Given the description of an element on the screen output the (x, y) to click on. 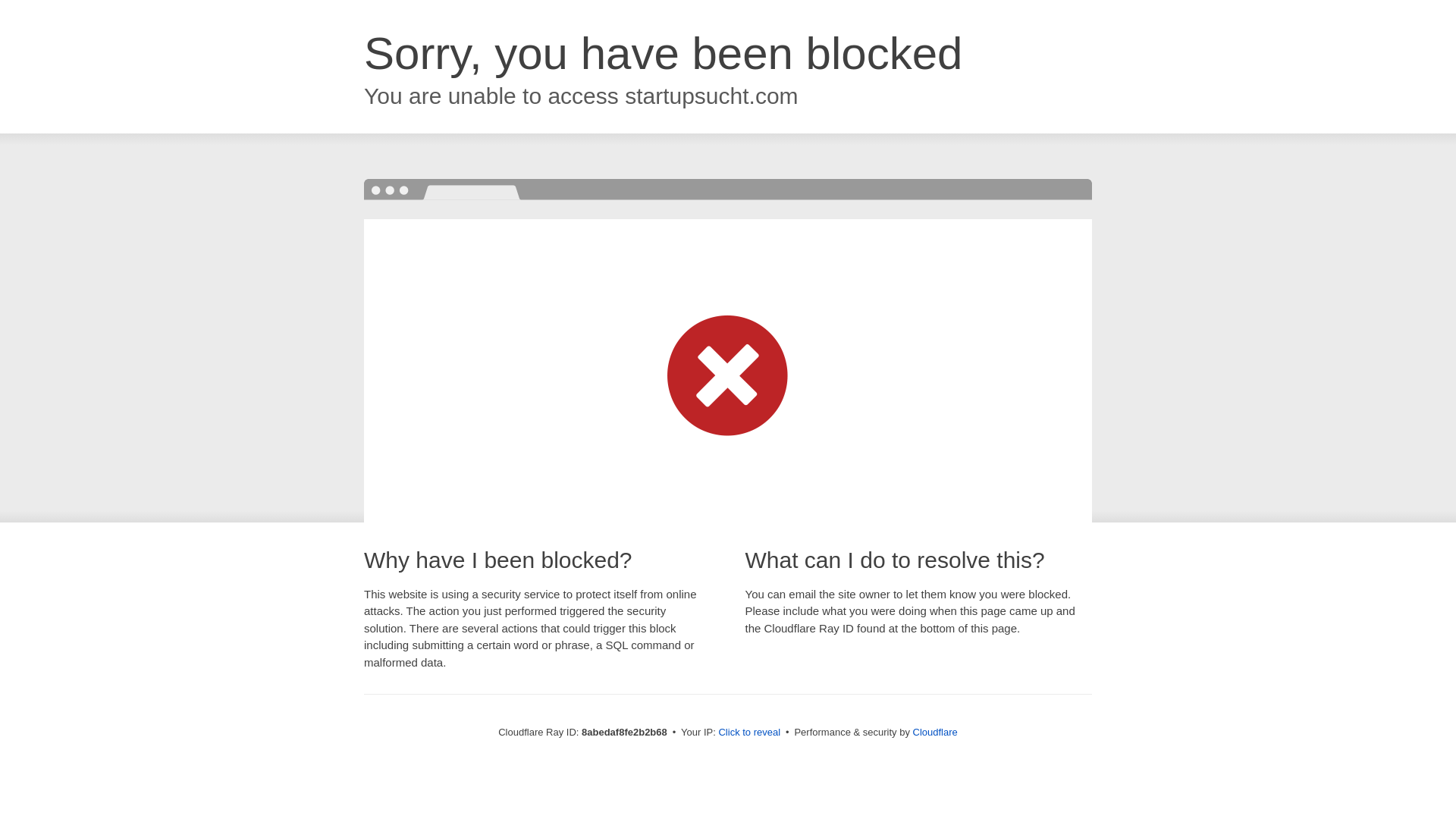
Cloudflare (935, 731)
Click to reveal (748, 732)
